Given the description of an element on the screen output the (x, y) to click on. 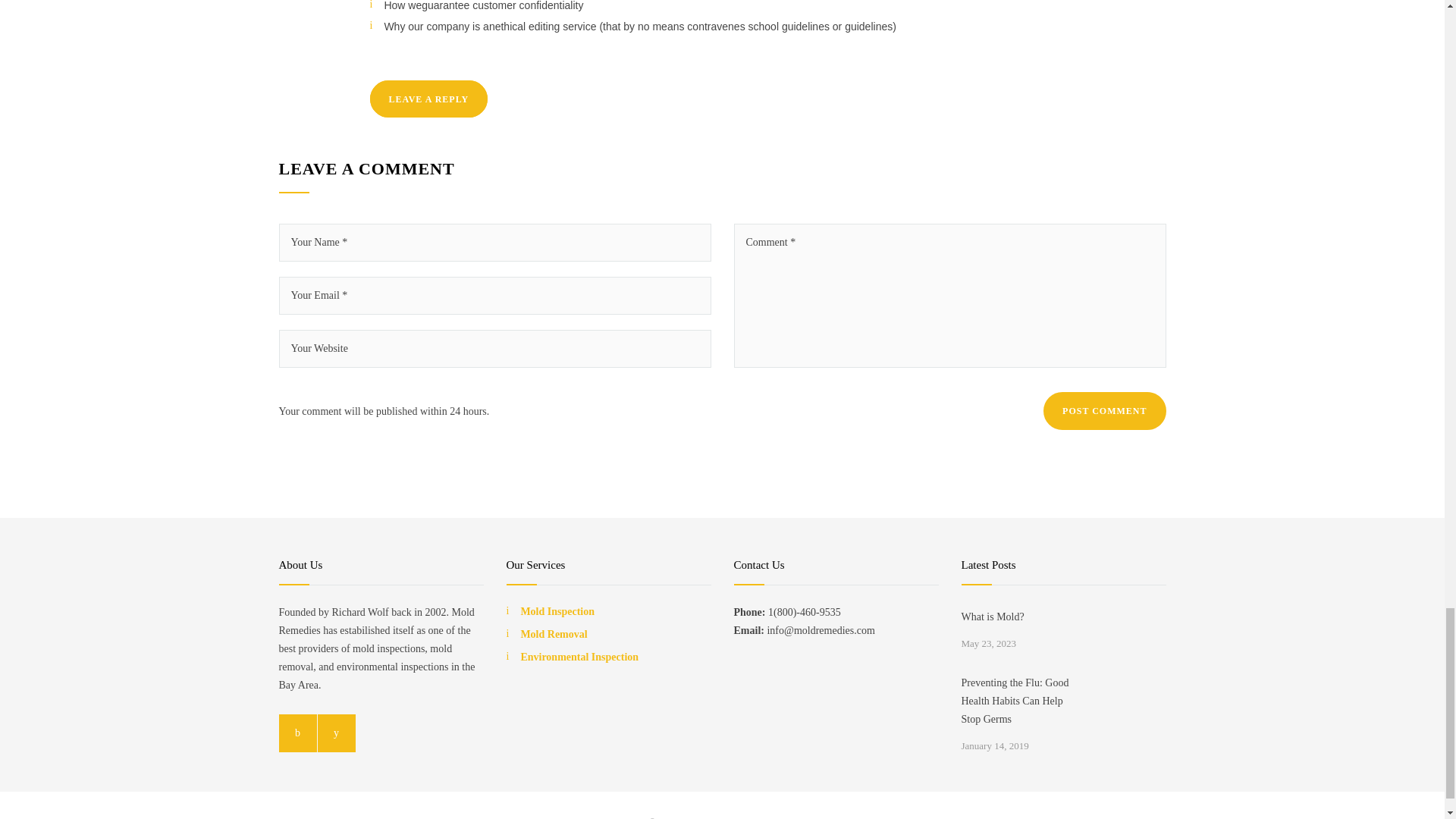
LEAVE A REPLY (428, 98)
LEAVE A REPLY (428, 98)
What is Mold? (1021, 617)
POST COMMENT (1104, 410)
Your Website (495, 348)
